Given the description of an element on the screen output the (x, y) to click on. 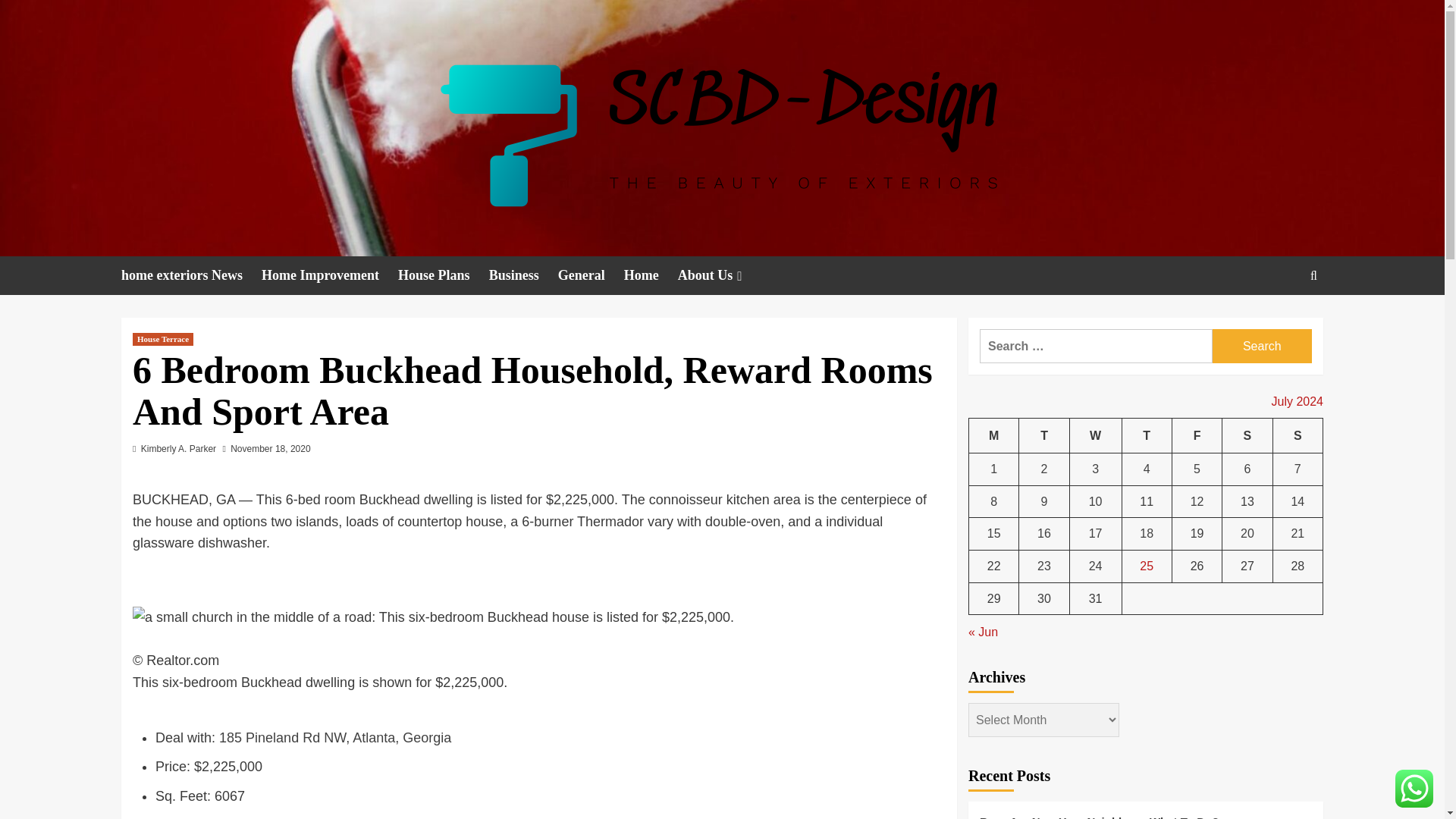
Home Improvement (329, 275)
General (590, 275)
Thursday (1146, 435)
home exteriors News (191, 275)
About Us (721, 275)
Wednesday (1094, 435)
Kimberly A. Parker (178, 448)
Saturday (1247, 435)
Friday (1196, 435)
House Terrace (162, 338)
Monday (994, 435)
Business (523, 275)
Search (1261, 346)
Tuesday (1043, 435)
November 18, 2020 (270, 448)
